Given the description of an element on the screen output the (x, y) to click on. 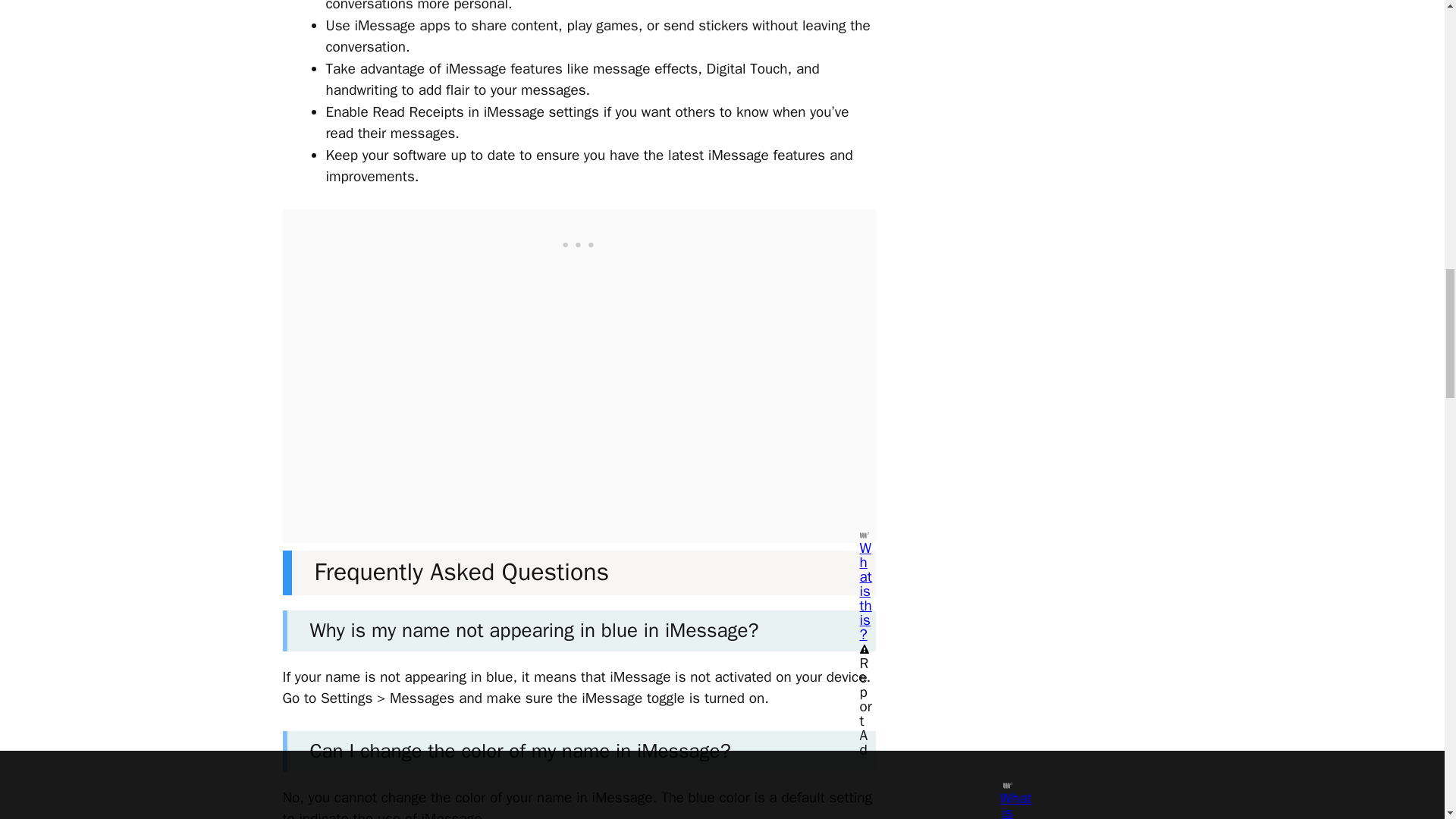
3rd party ad content (579, 243)
